Given the description of an element on the screen output the (x, y) to click on. 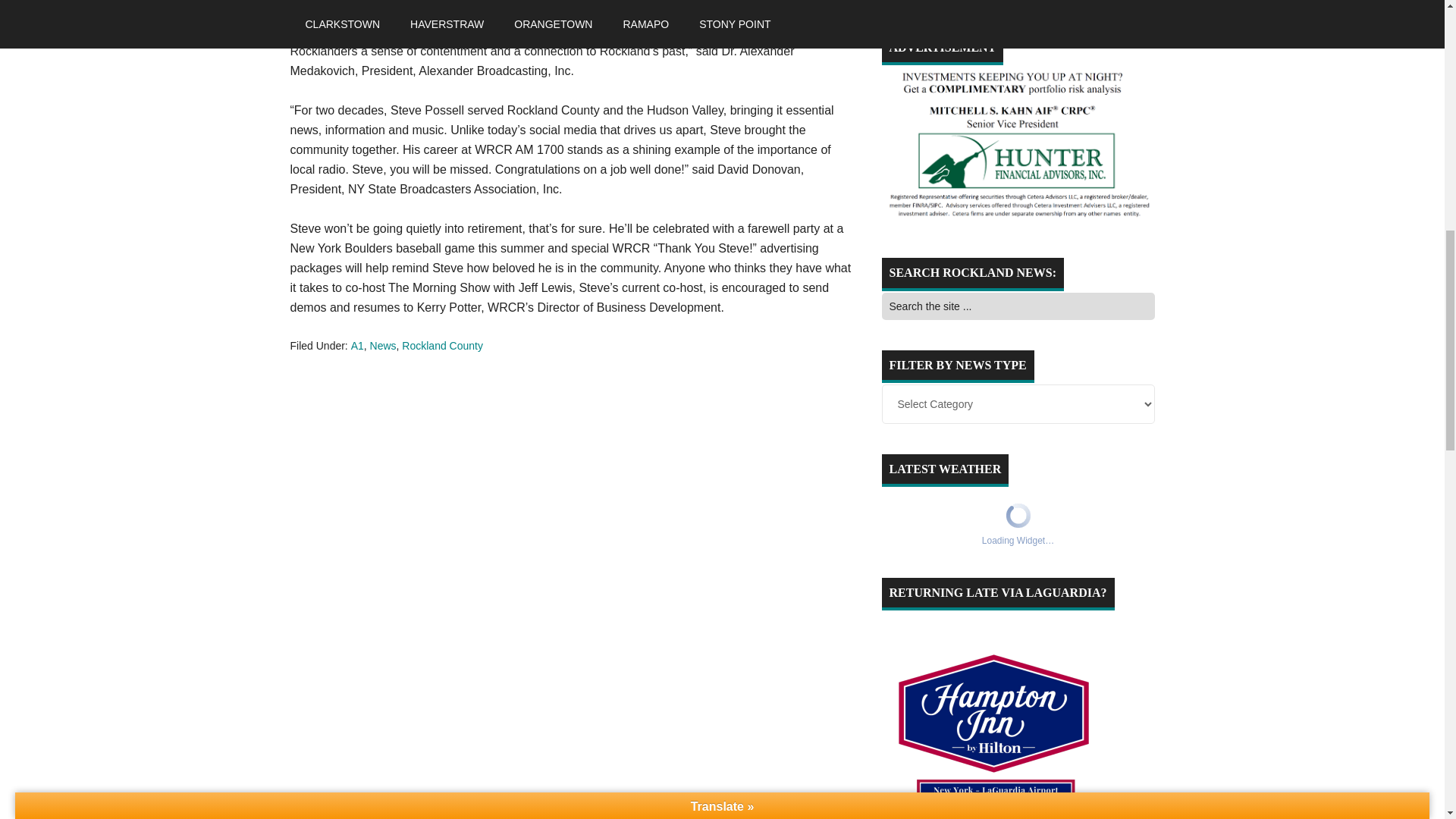
Rockland County (442, 345)
News (382, 345)
Returning late via Laguardia Airport? Stay overnight! (994, 715)
A1 (357, 345)
